Given the description of an element on the screen output the (x, y) to click on. 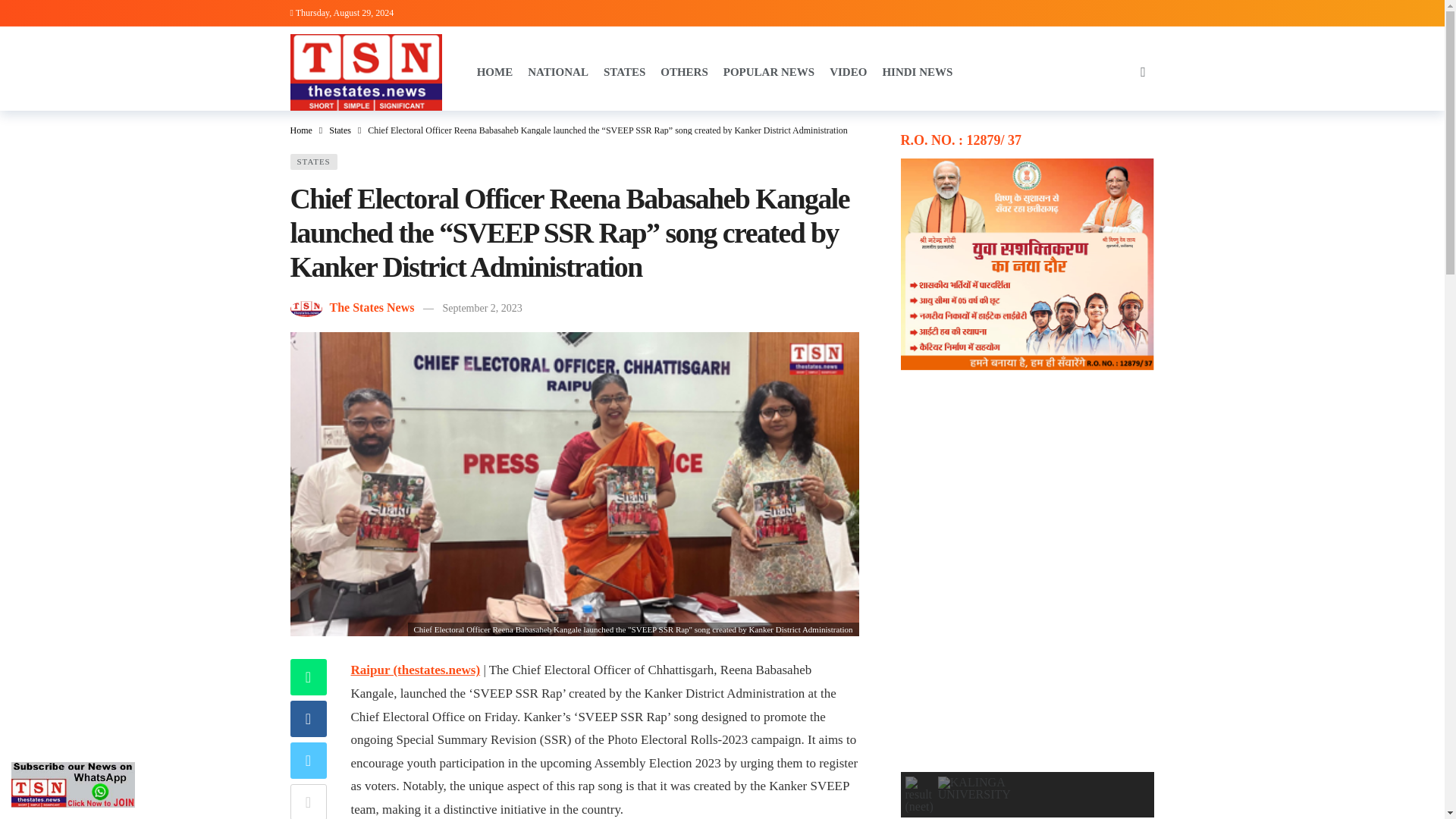
Home (300, 130)
POPULAR NEWS (768, 71)
VIDEO (847, 71)
NATIONAL (557, 71)
OTHERS (684, 71)
STATES (312, 160)
The States News (371, 307)
States (339, 130)
STATES (624, 71)
September 2, 2023 (482, 307)
